Given the description of an element on the screen output the (x, y) to click on. 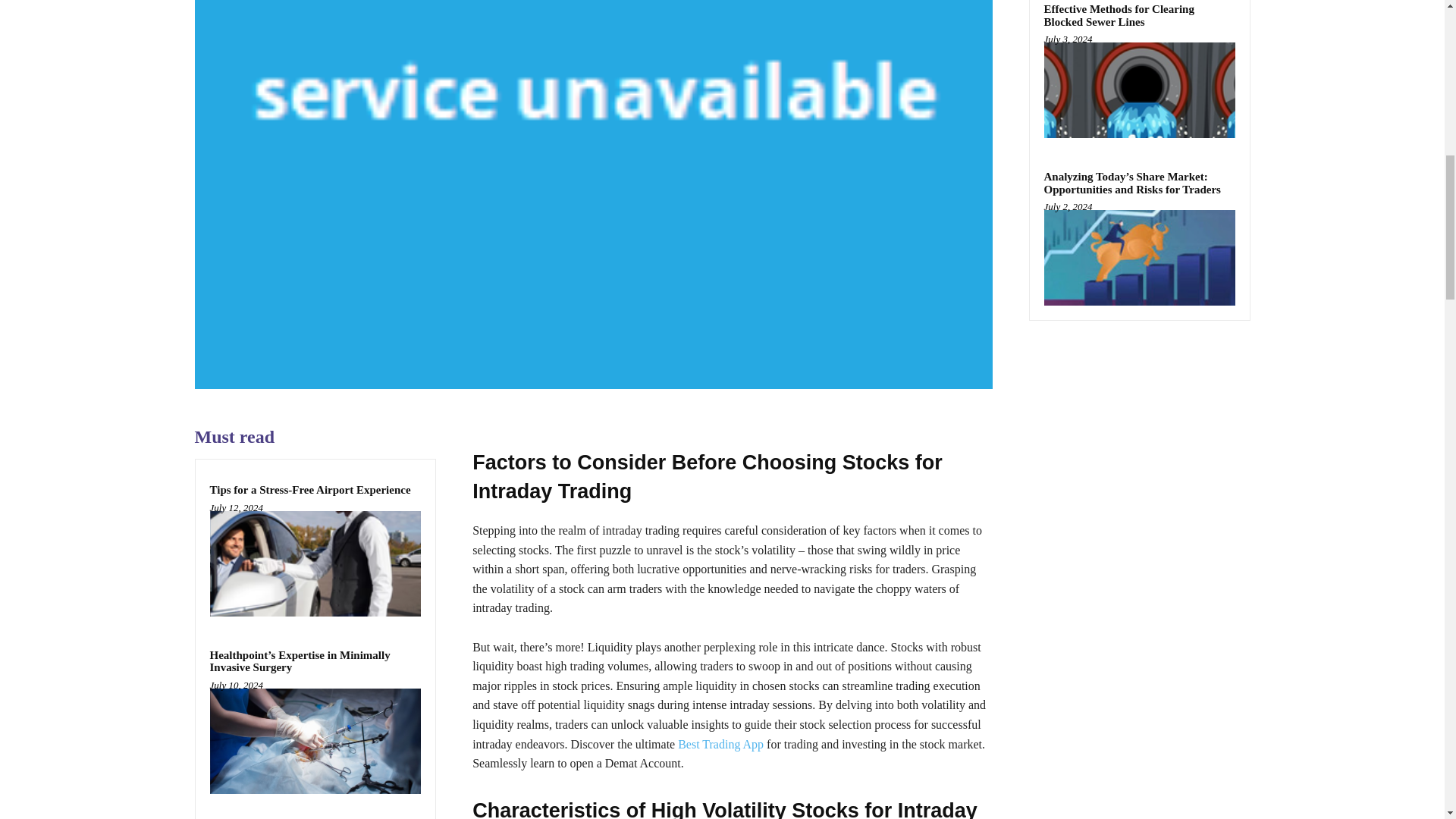
Tips for a Stress-Free Airport Experience (309, 490)
Tips for a Stress-Free Airport Experience (314, 563)
Tips for a Stress-Free Airport Experience (309, 490)
Best Trading App (720, 744)
